Given the description of an element on the screen output the (x, y) to click on. 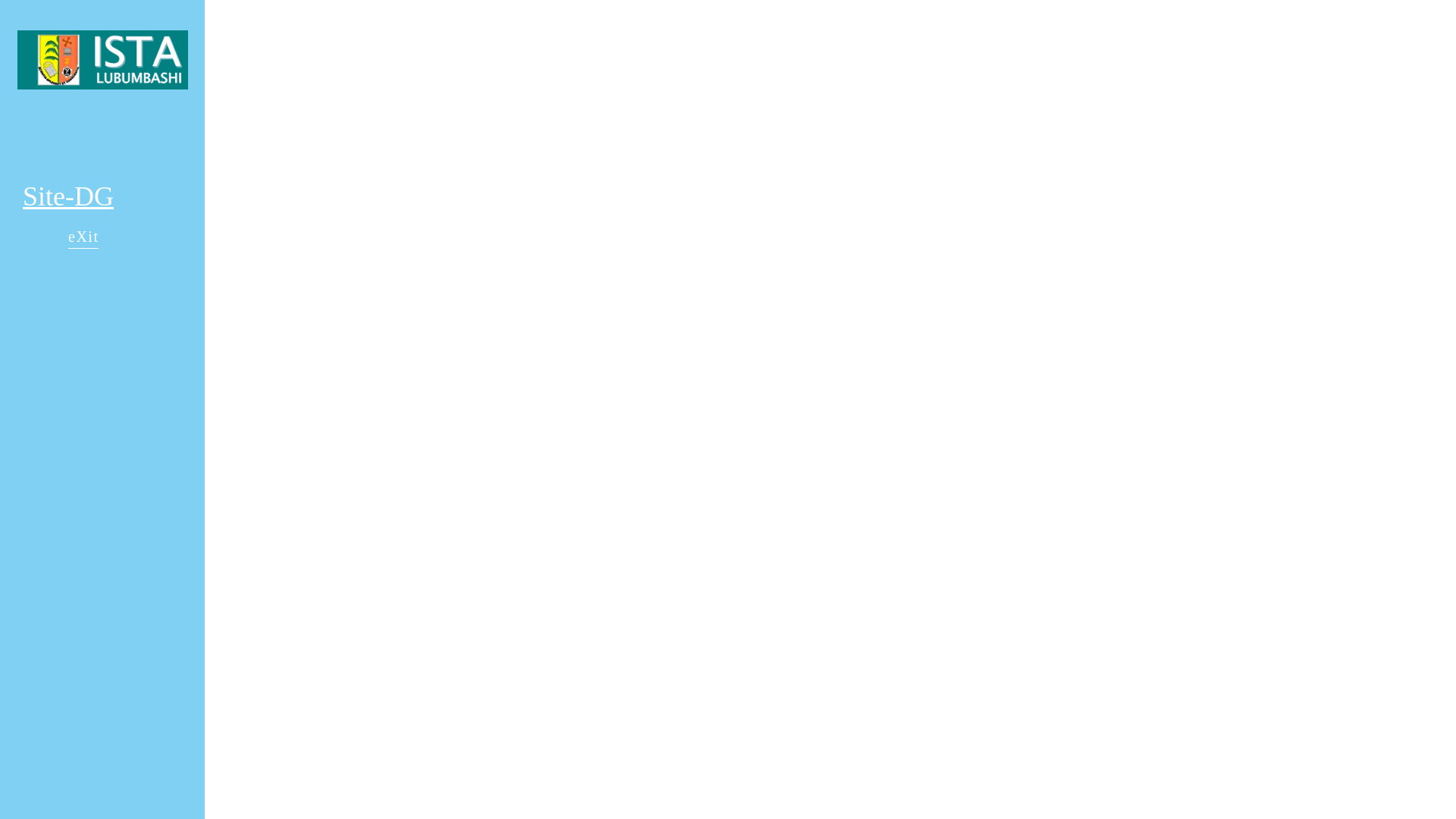
eXit Element type: text (83, 238)
